Given the description of an element on the screen output the (x, y) to click on. 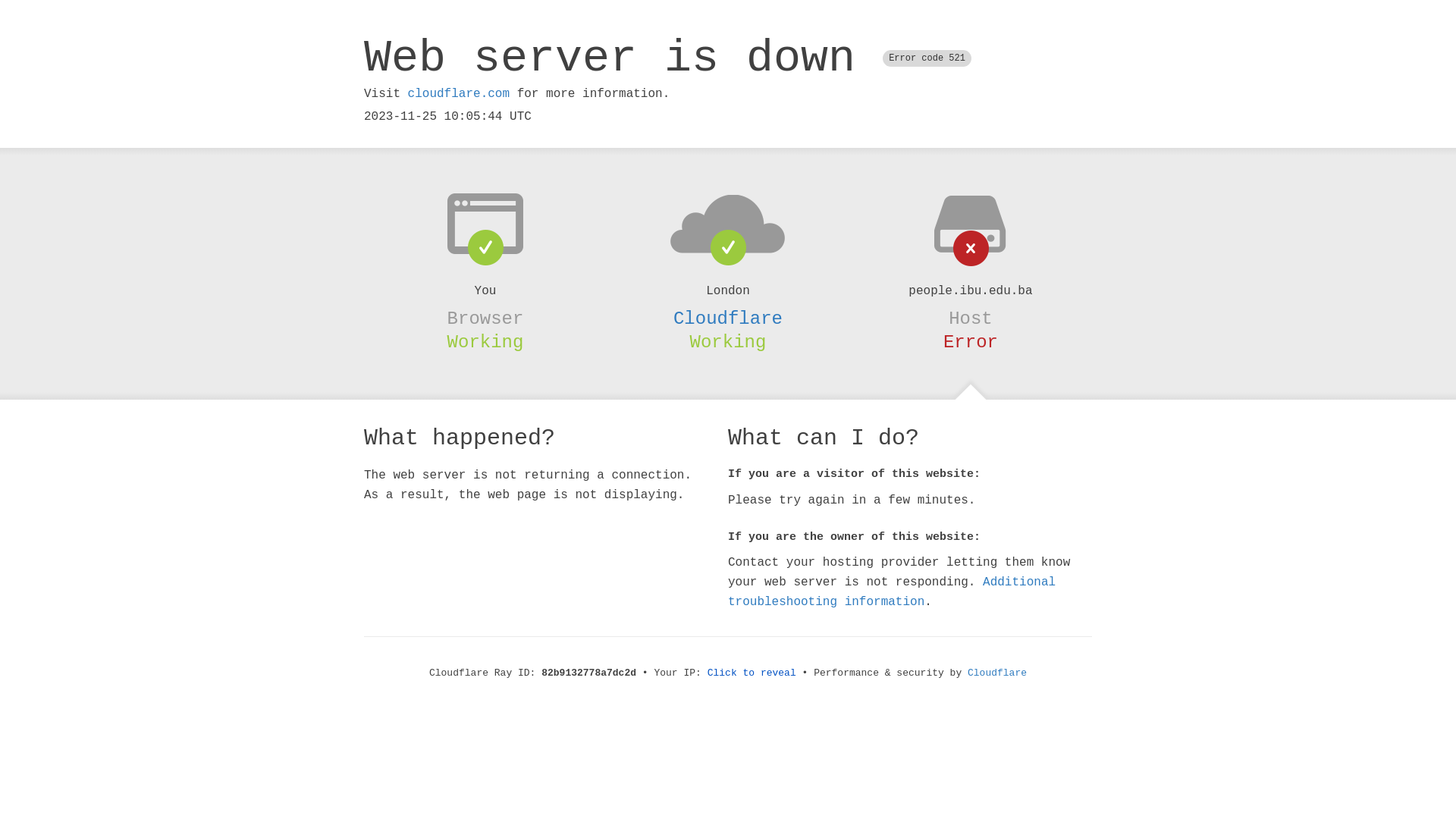
Additional troubleshooting information Element type: text (891, 591)
cloudflare.com Element type: text (458, 93)
Click to reveal Element type: text (751, 672)
Cloudflare Element type: text (727, 318)
Cloudflare Element type: text (996, 672)
